Given the description of an element on the screen output the (x, y) to click on. 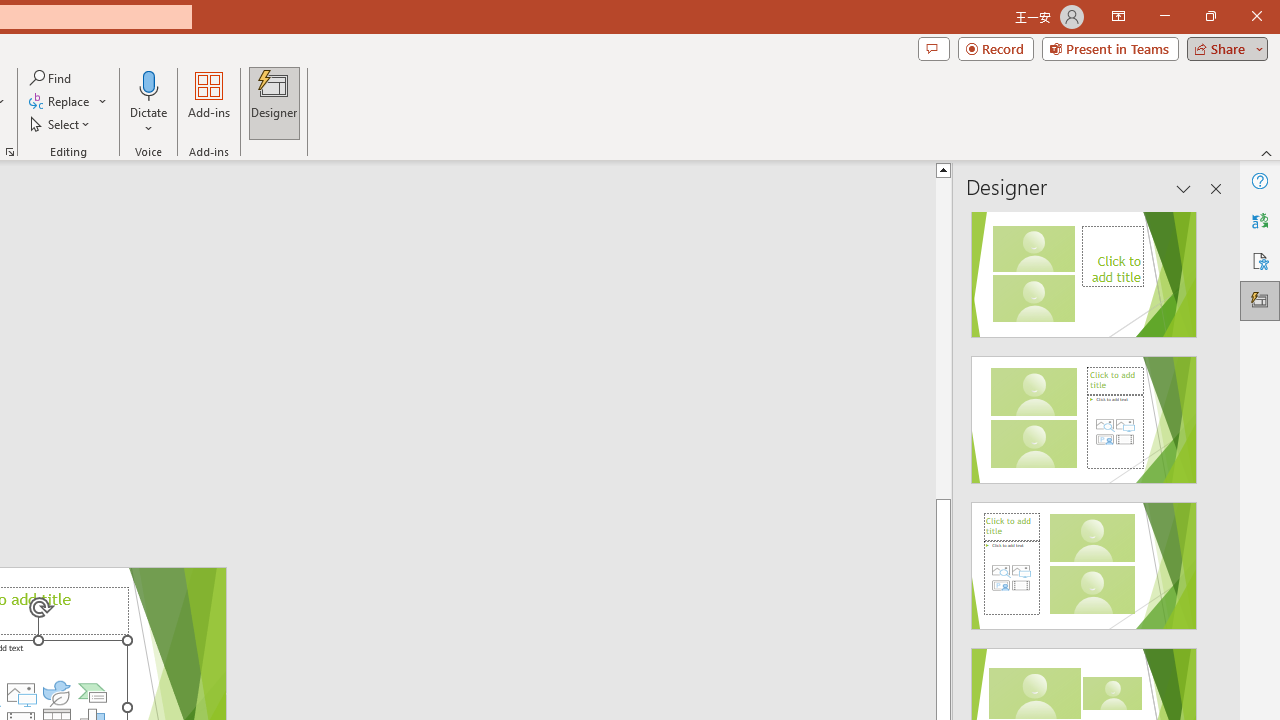
Insert an Icon (56, 692)
